Given the description of an element on the screen output the (x, y) to click on. 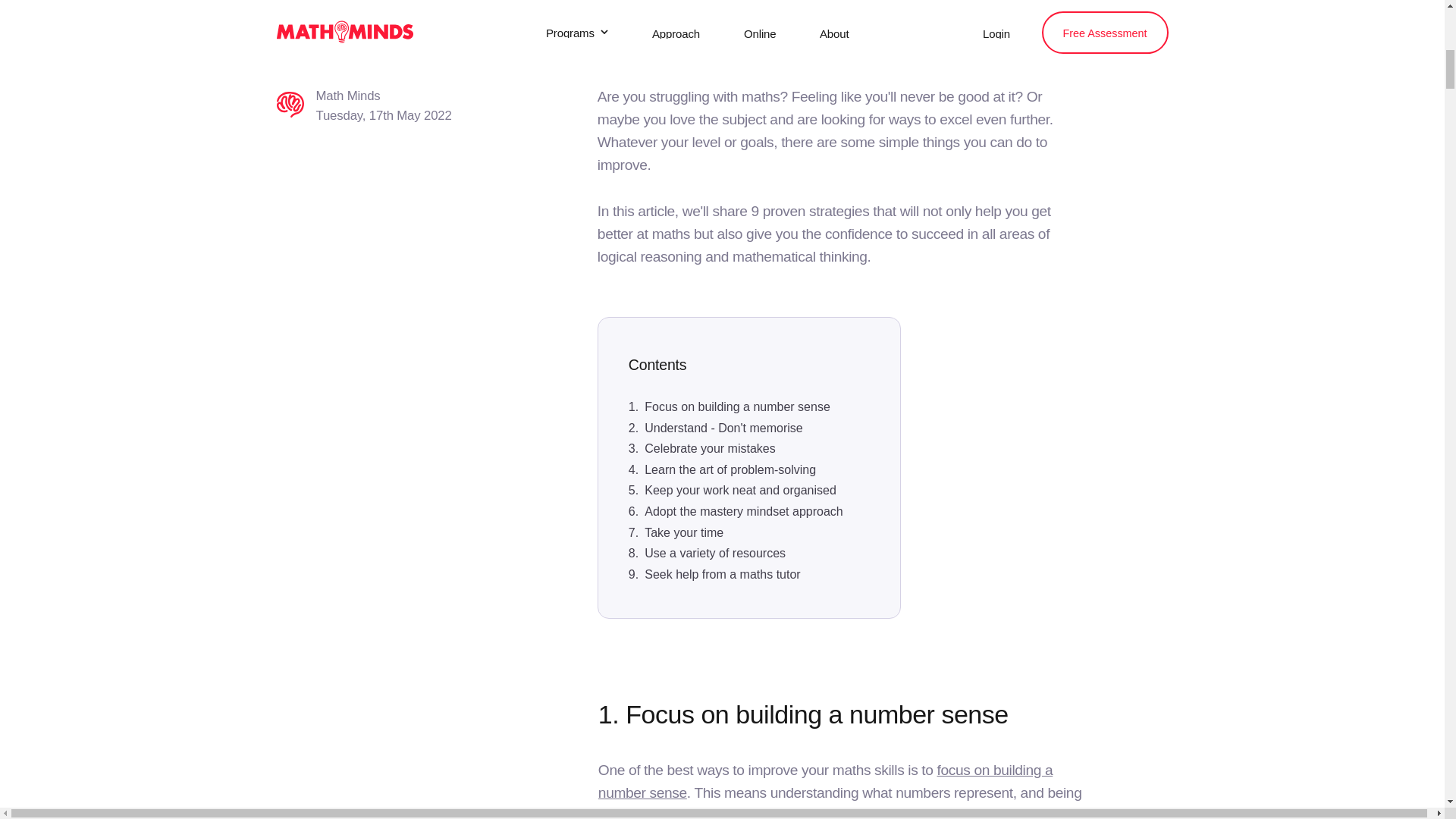
Keep your work neat and organised (740, 490)
Adopt the mastery mindset approach (744, 511)
Celebrate your mistakes (710, 448)
Keep your work neat and organised (740, 490)
Celebrate your mistakes (710, 448)
Use a variety of resources (715, 553)
Focus on building a number sense (737, 407)
Seek help from a maths tutor (722, 574)
Use a variety of resources (715, 553)
Take your time (684, 532)
